Given the description of an element on the screen output the (x, y) to click on. 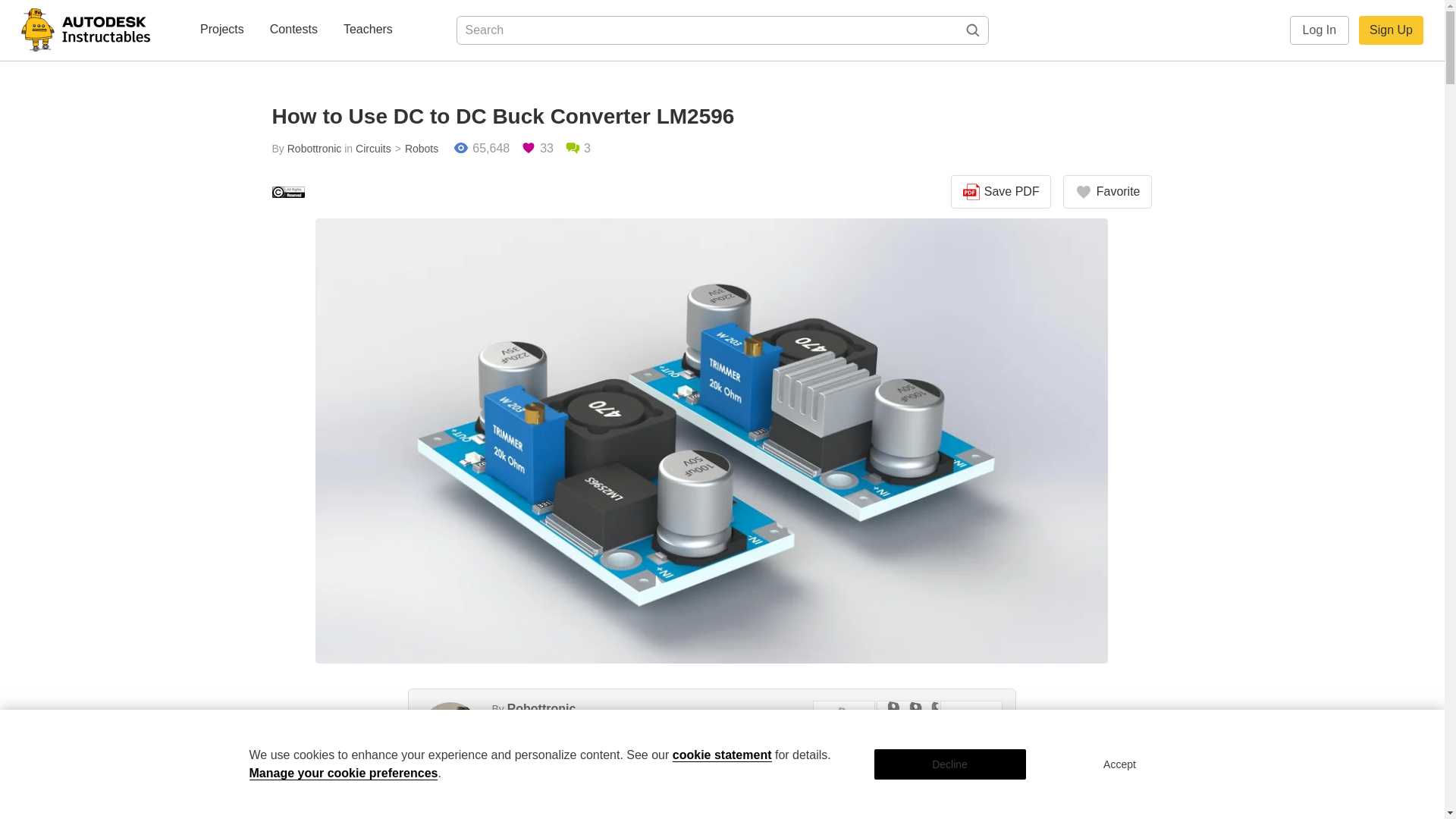
Save PDF (1000, 191)
3 (577, 148)
Robots (415, 148)
Contests (293, 30)
Sign Up (1390, 30)
Teachers (368, 30)
My Youtube Channel (570, 725)
Robottronic (541, 707)
Log In (1319, 30)
Robottronic (314, 148)
